Given the description of an element on the screen output the (x, y) to click on. 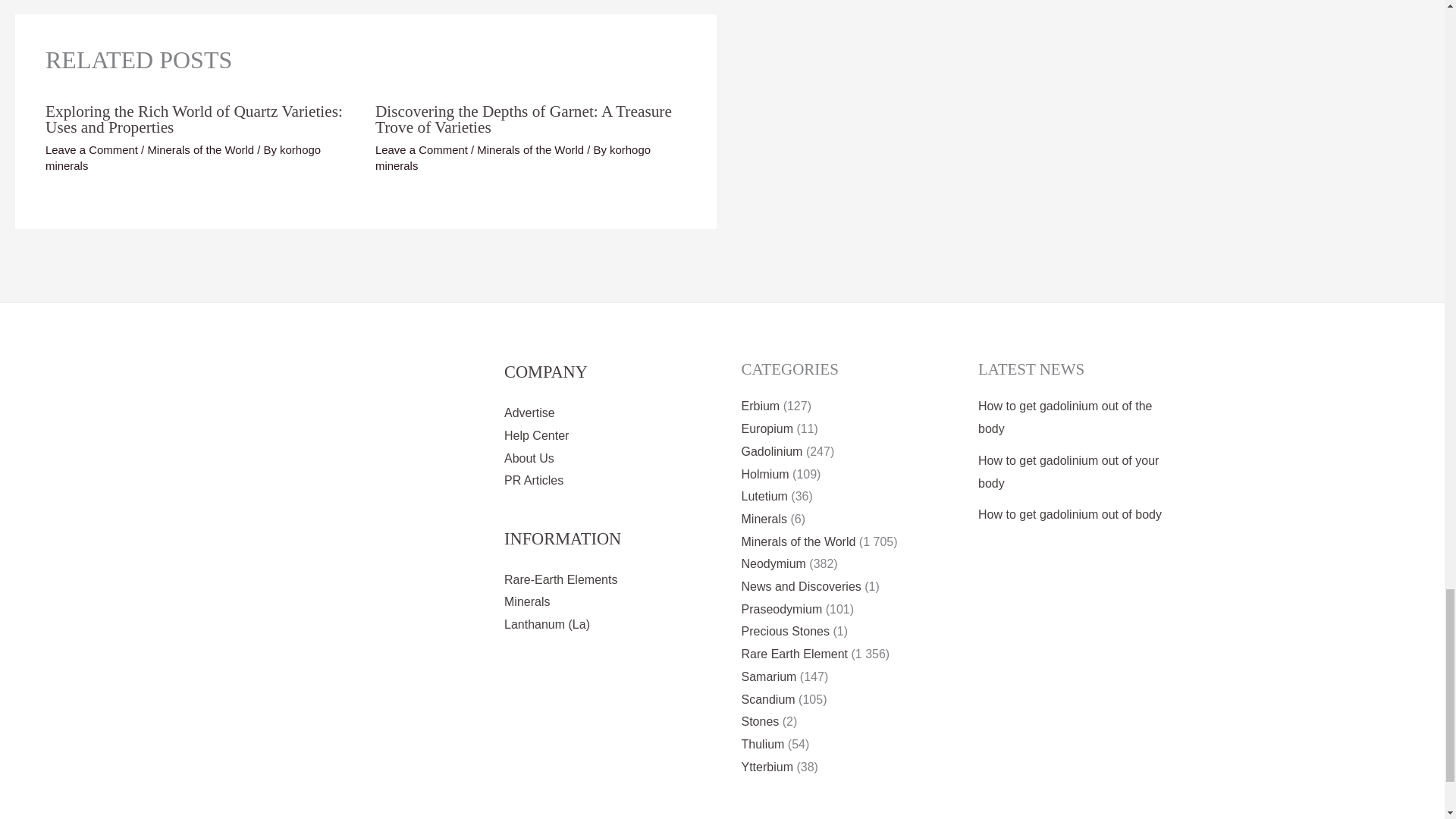
Leave a Comment (91, 149)
Minerals of the World (530, 149)
Leave a Comment (421, 149)
Minerals of the World (200, 149)
View all posts by korhogo minerals (512, 157)
korhogo minerals (512, 157)
View all posts by korhogo minerals (182, 157)
korhogo minerals (182, 157)
